Given the description of an element on the screen output the (x, y) to click on. 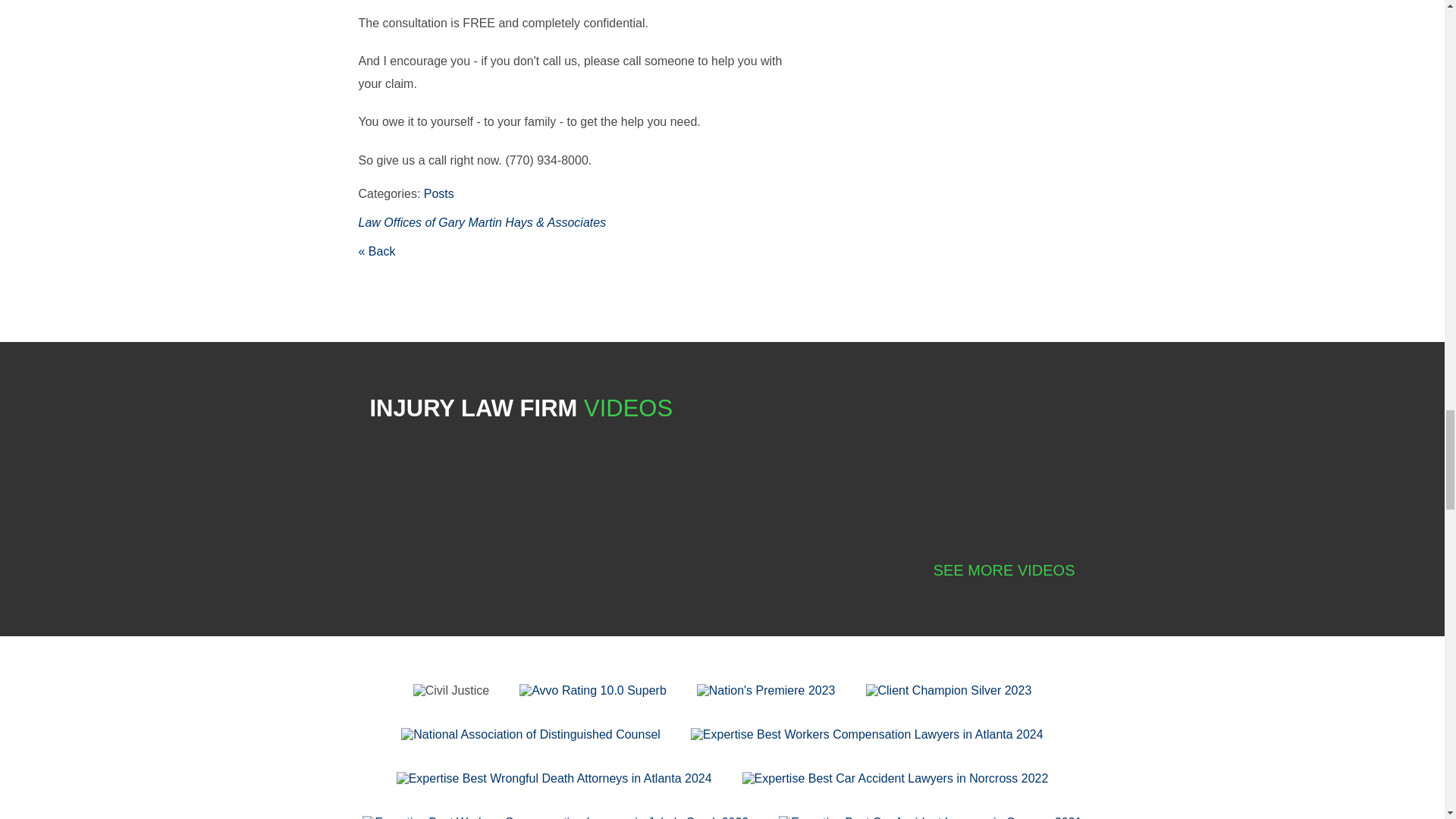
Expertise Best Wrongful Death Attorneys in Atlanta 2024 (553, 778)
Client Champion Silver 2023 (949, 690)
Nation's Premiere 2023 (766, 690)
Avvo Rating 10.0 Superb (592, 690)
Expertise Best Car Accident Lawyers in Norcross 2022 (895, 778)
Expertise Best Workers Compensation Lawyers in Atlanta 2024 (866, 735)
National Association of Distinguished Counsel  (531, 735)
